Given the description of an element on the screen output the (x, y) to click on. 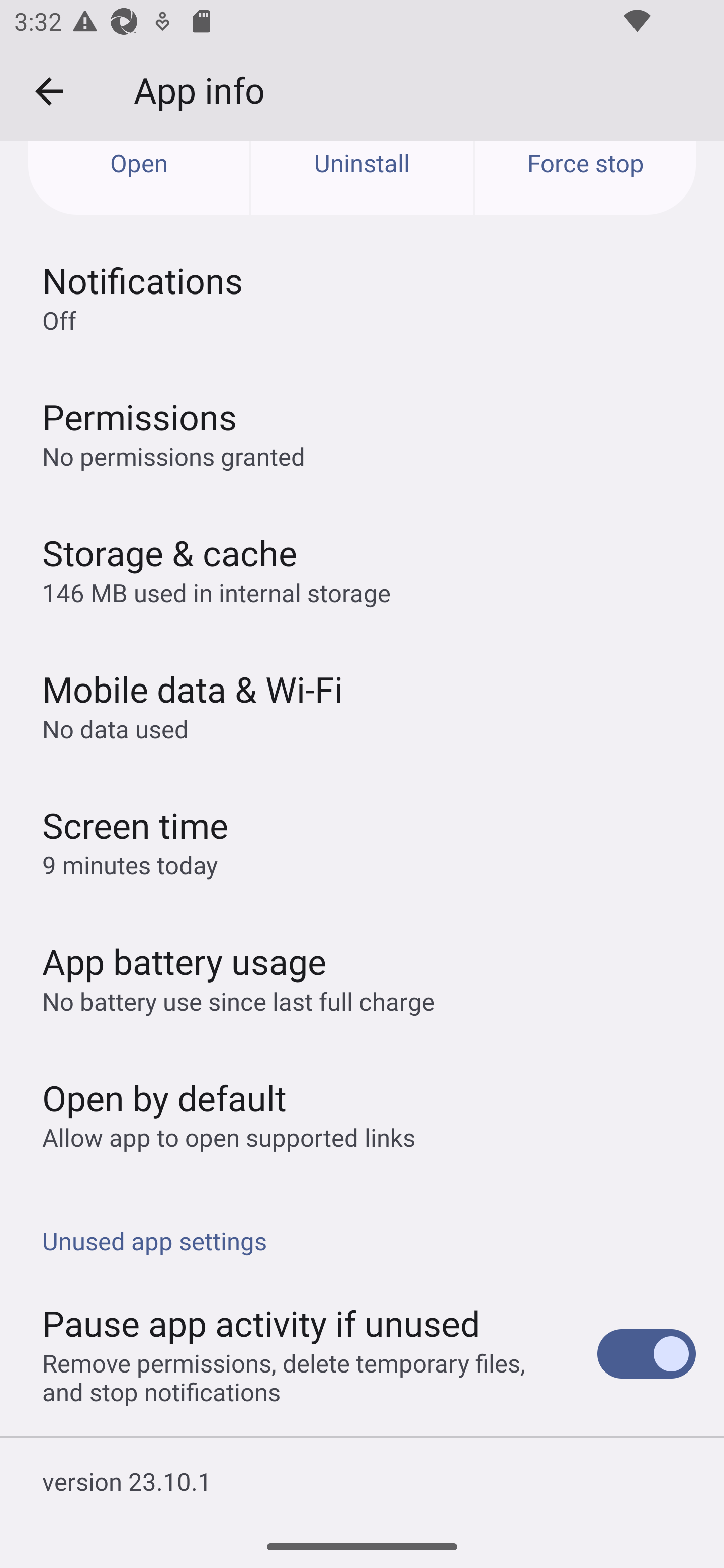
Navigate up (49, 91)
Open (138, 177)
Uninstall (361, 177)
Force stop (584, 177)
Notifications Off (362, 296)
Permissions No permissions granted (362, 433)
Storage & cache 146 MB used in internal storage (362, 568)
Mobile data & Wi‑Fi No data used (362, 704)
Screen time 9 minutes today (362, 841)
Open by default Allow app to open supported links (362, 1113)
